Given the description of an element on the screen output the (x, y) to click on. 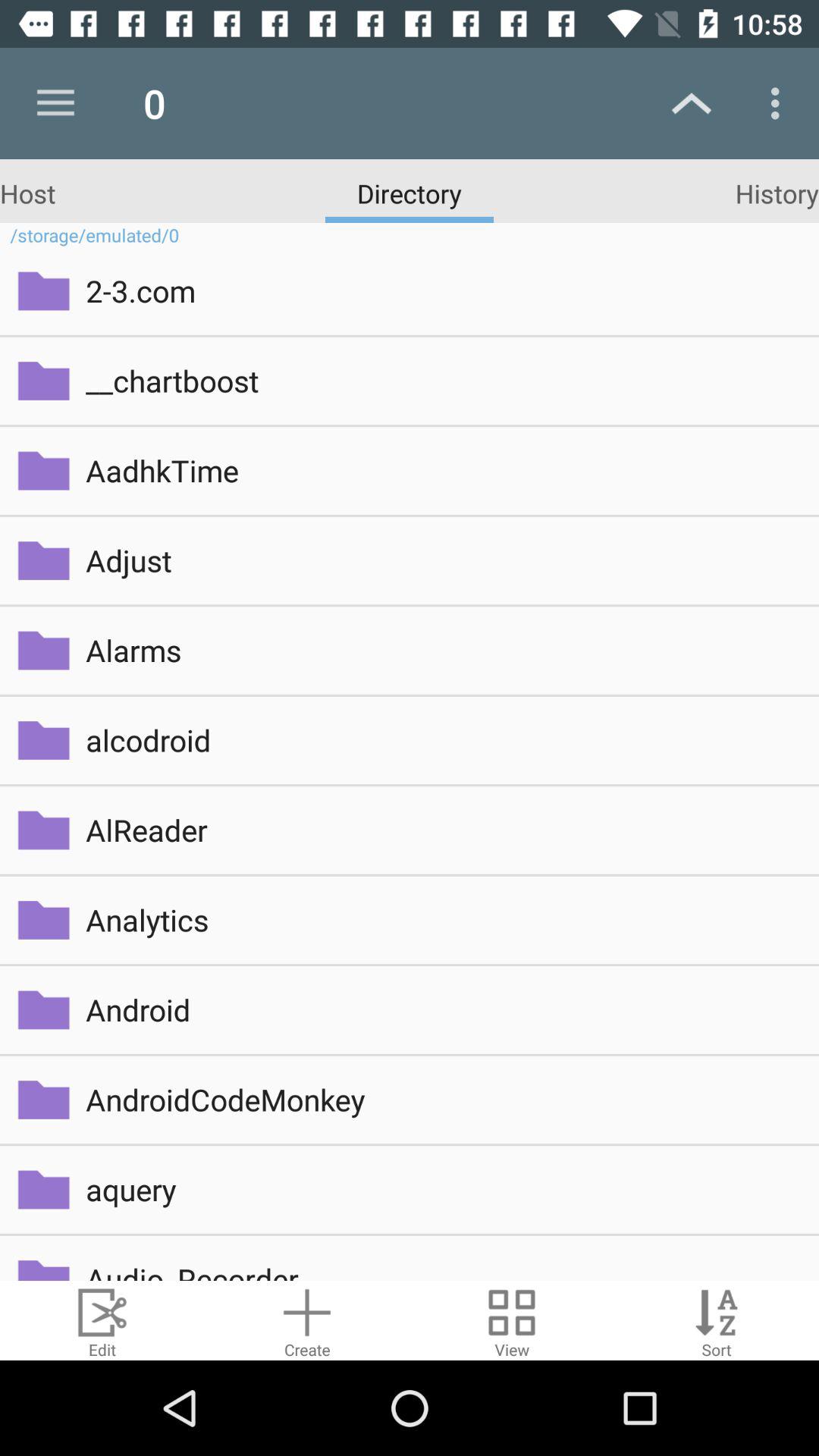
open the item below the /storage/emulated/0 (441, 290)
